Given the description of an element on the screen output the (x, y) to click on. 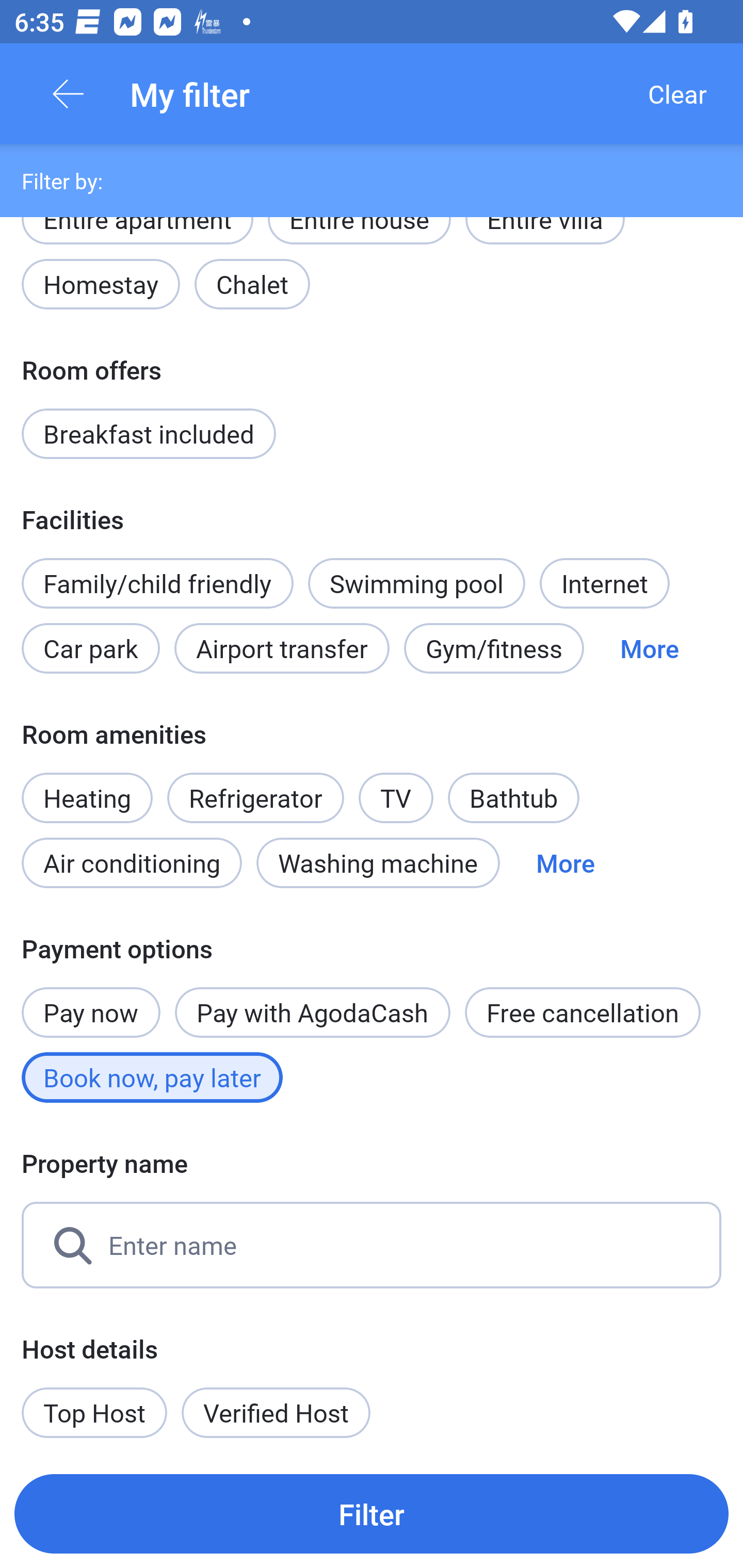
Clear (676, 93)
Homestay (100, 284)
Chalet (251, 284)
Breakfast included (148, 433)
Family/child friendly (157, 583)
Swimming pool (416, 583)
Internet (604, 583)
Car park (90, 648)
Airport transfer (281, 648)
Gym/fitness (493, 648)
More (649, 648)
Heating (87, 787)
Refrigerator (255, 798)
TV (395, 787)
Bathtub (513, 798)
Air conditioning (131, 863)
Washing machine (378, 863)
More (565, 863)
Pay now (90, 1001)
Pay with AgodaCash (312, 1012)
Free cancellation (582, 1012)
Enter name (371, 1244)
Top Host (94, 1412)
Verified Host (275, 1412)
Filter (371, 1513)
